Given the description of an element on the screen output the (x, y) to click on. 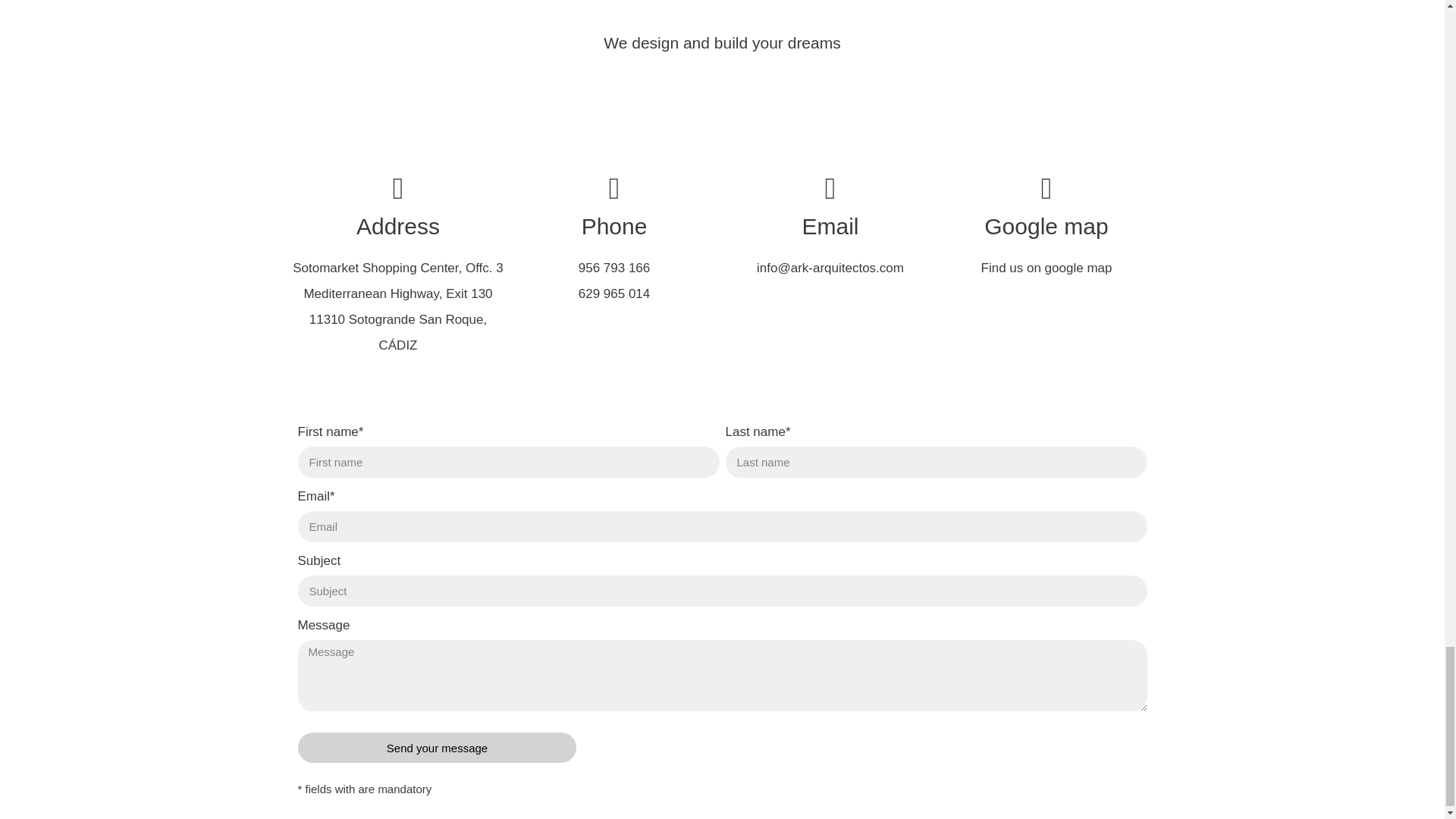
Google map (1046, 226)
Email (830, 226)
Send your message (436, 747)
Find us on google map (1046, 268)
629 965 014 (614, 293)
956 793 166 (614, 268)
